Given the description of an element on the screen output the (x, y) to click on. 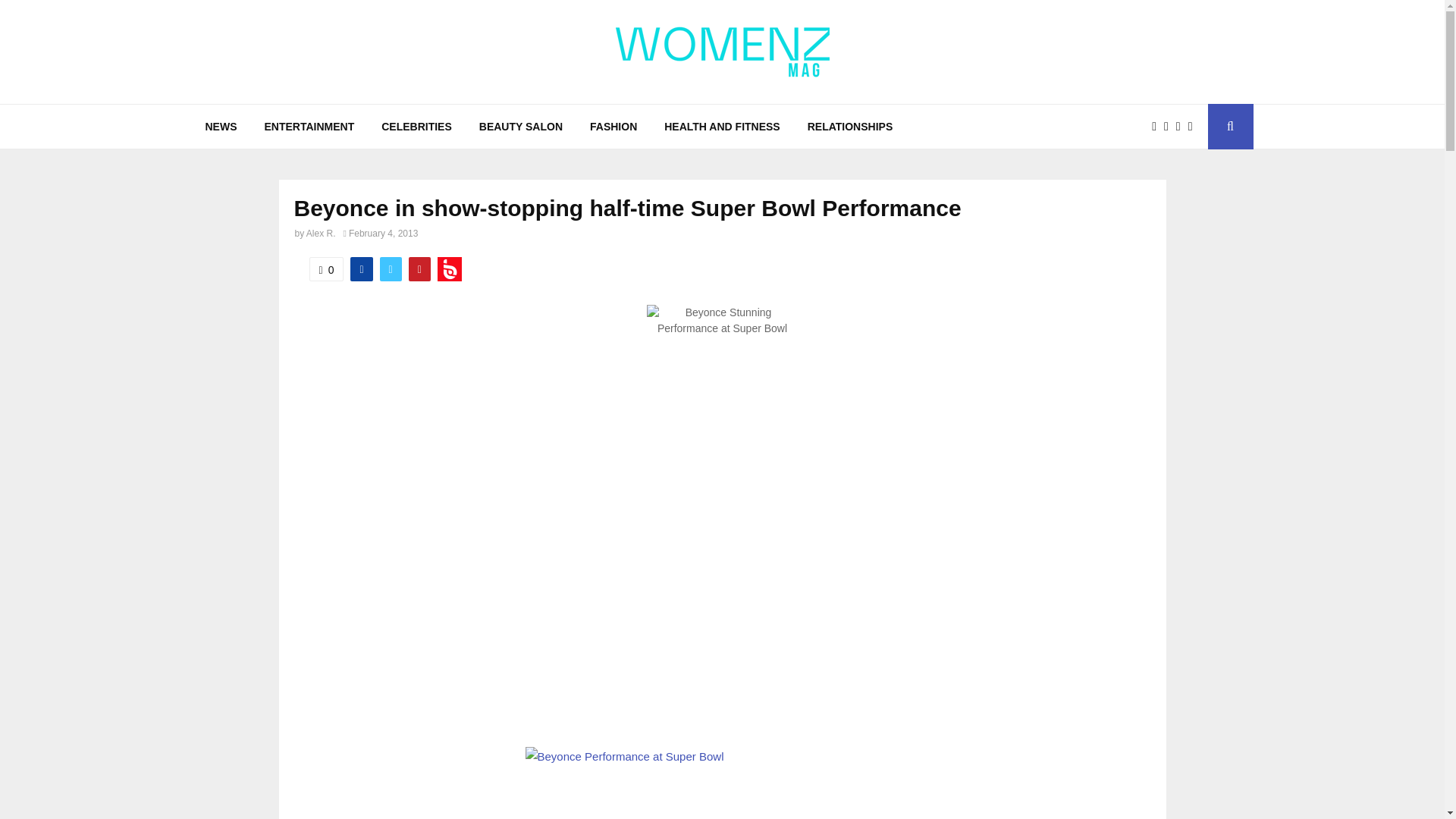
Alex R. (320, 233)
HEALTH AND FITNESS (721, 126)
CELEBRITIES (416, 126)
FASHION (613, 126)
RELATIONSHIPS (850, 126)
ENTERTAINMENT (309, 126)
Like (325, 269)
0 (325, 269)
NEWS (220, 126)
BEAUTY SALON (520, 126)
